Given the description of an element on the screen output the (x, y) to click on. 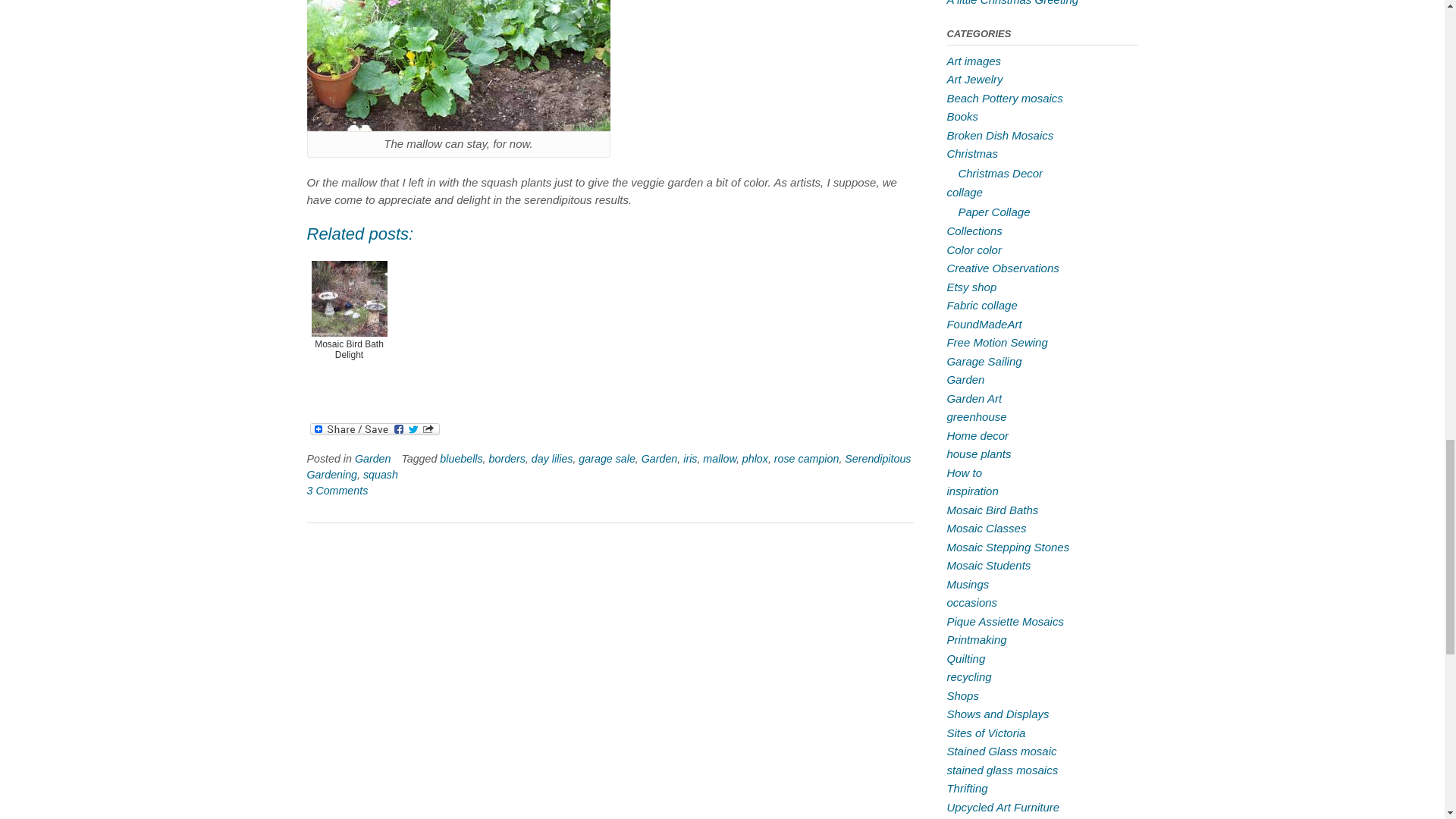
Garden (373, 458)
day lilies (552, 458)
squash (457, 65)
phlox (755, 458)
Garden (660, 458)
bluebells (460, 458)
mallow (719, 458)
Serendipitous Gardening (608, 466)
iris (689, 458)
squash (379, 474)
